Given the description of an element on the screen output the (x, y) to click on. 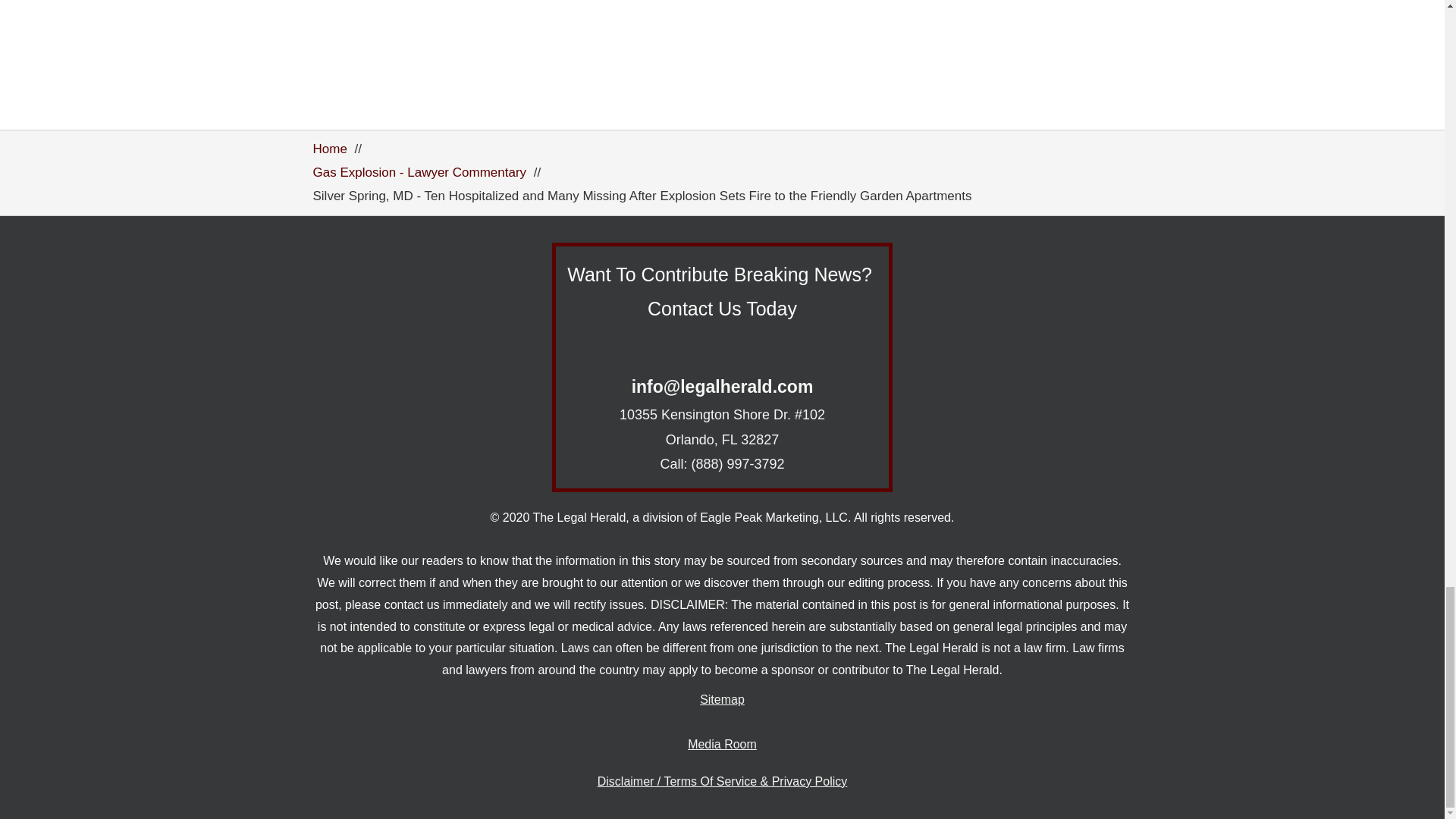
Media Room (722, 744)
Gas Explosion - Lawyer Commentary (419, 172)
Home (329, 148)
Sitemap (722, 700)
